Given the description of an element on the screen output the (x, y) to click on. 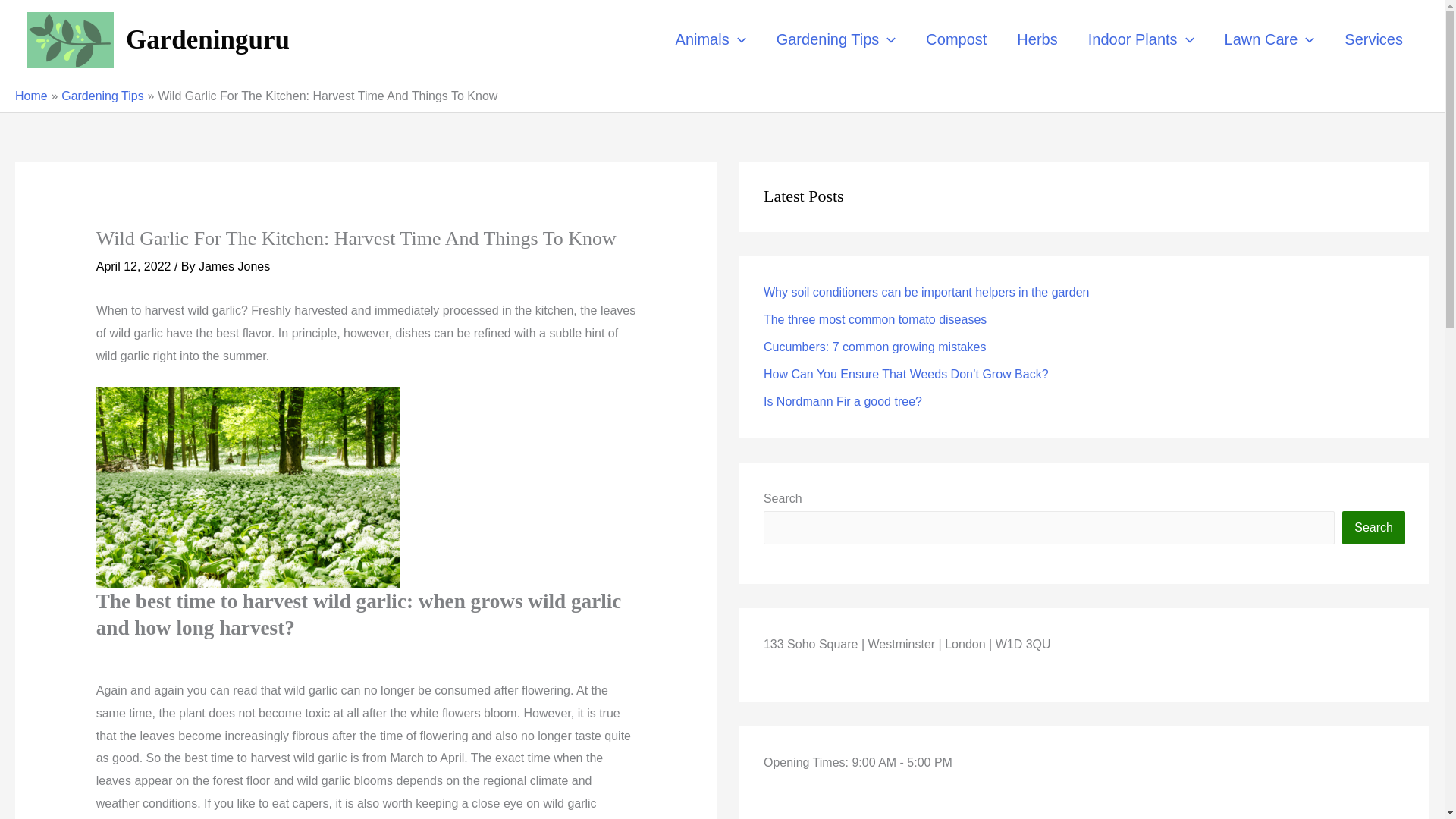
Gardening Tips (836, 39)
Services (1373, 39)
Herbs (1036, 39)
Compost (956, 39)
View all posts by James Jones (233, 266)
Indoor Plants (1141, 39)
Gardeninguru (207, 39)
Animals (711, 39)
Lawn Care (1269, 39)
